Given the description of an element on the screen output the (x, y) to click on. 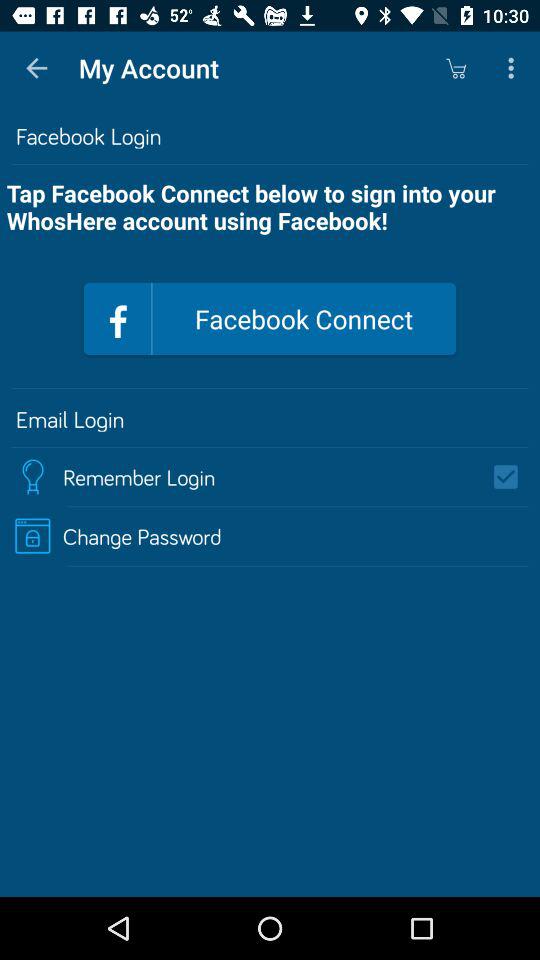
turn on the app next to the my account icon (36, 68)
